Given the description of an element on the screen output the (x, y) to click on. 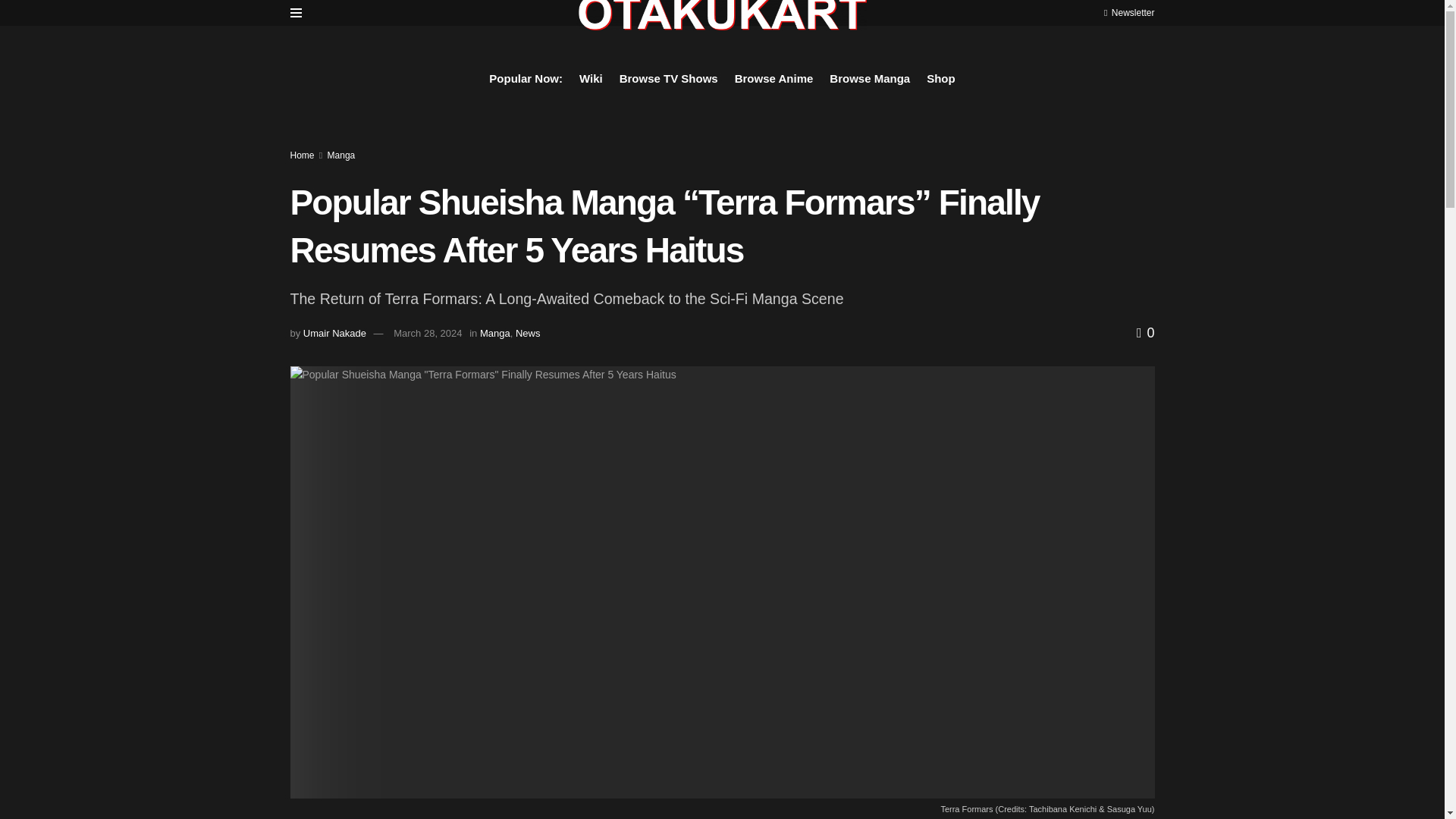
Home (301, 154)
Manga (495, 333)
Shop (940, 78)
Browse TV Shows (668, 78)
Browse Anime (774, 78)
News (527, 333)
Newsletter (1128, 12)
March 28, 2024 (427, 333)
0 (1145, 332)
Umair Nakade (334, 333)
Wiki (590, 78)
Manga (341, 154)
Browse Manga (869, 78)
Popular Now: (525, 78)
